Given the description of an element on the screen output the (x, y) to click on. 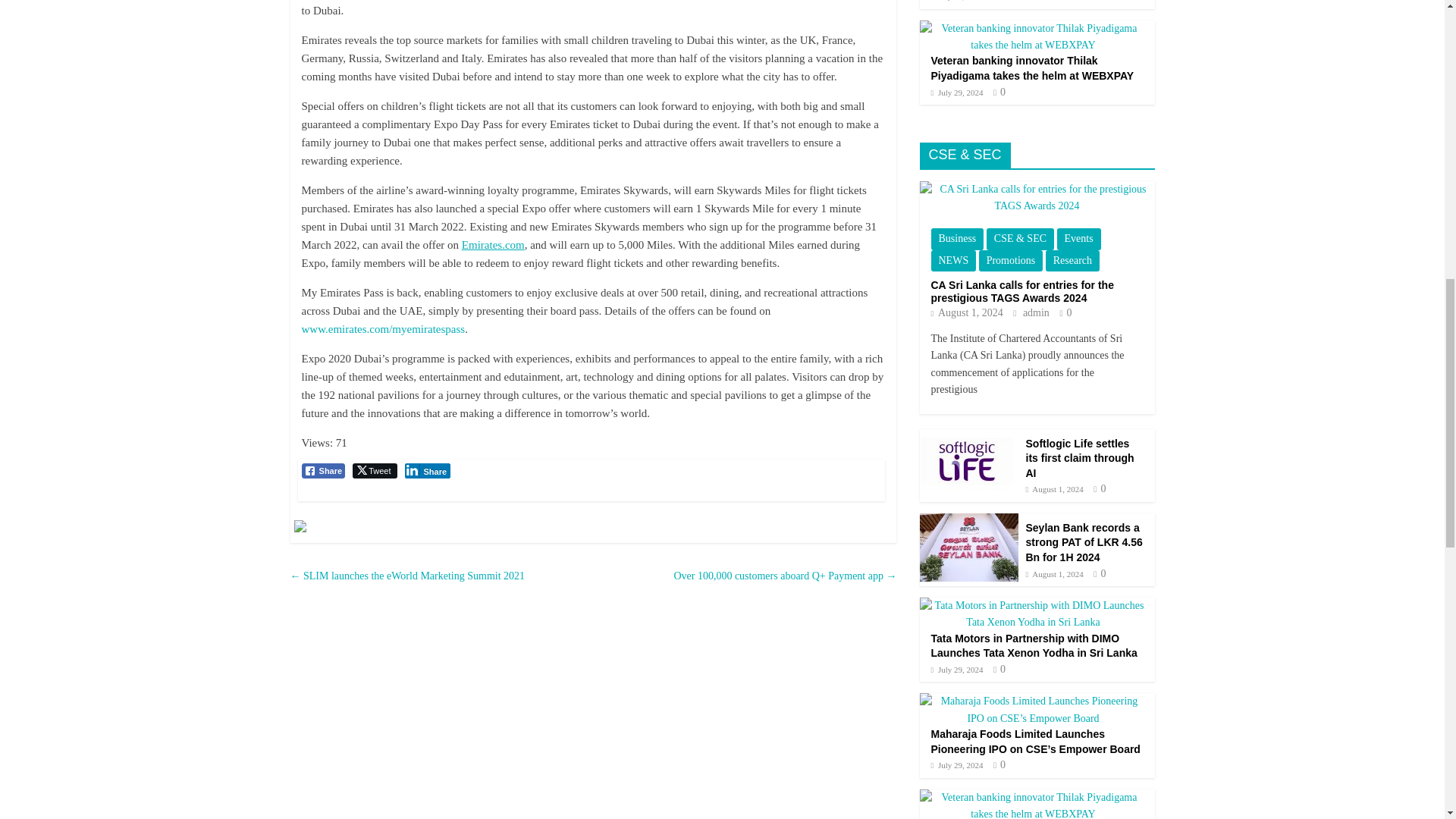
Tweet (374, 470)
Share (427, 470)
Share (323, 470)
Emirates.com (492, 244)
